Given the description of an element on the screen output the (x, y) to click on. 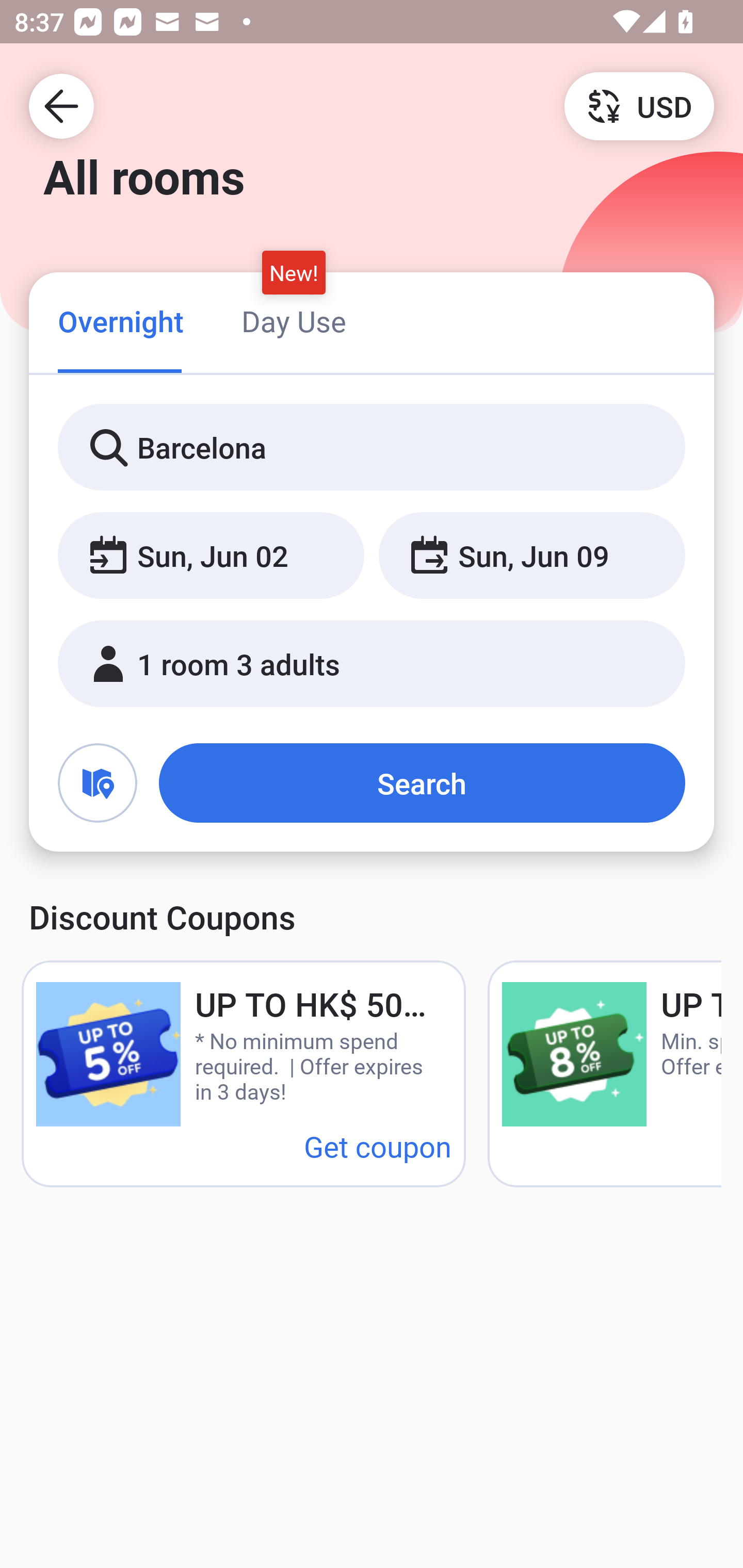
USD (639, 105)
New! (294, 272)
Day Use (293, 321)
Barcelona (371, 447)
Sun, Jun 02 (210, 555)
Sun, Jun 09 (531, 555)
1 room 3 adults (371, 663)
Search (422, 783)
Get coupon (377, 1146)
